Given the description of an element on the screen output the (x, y) to click on. 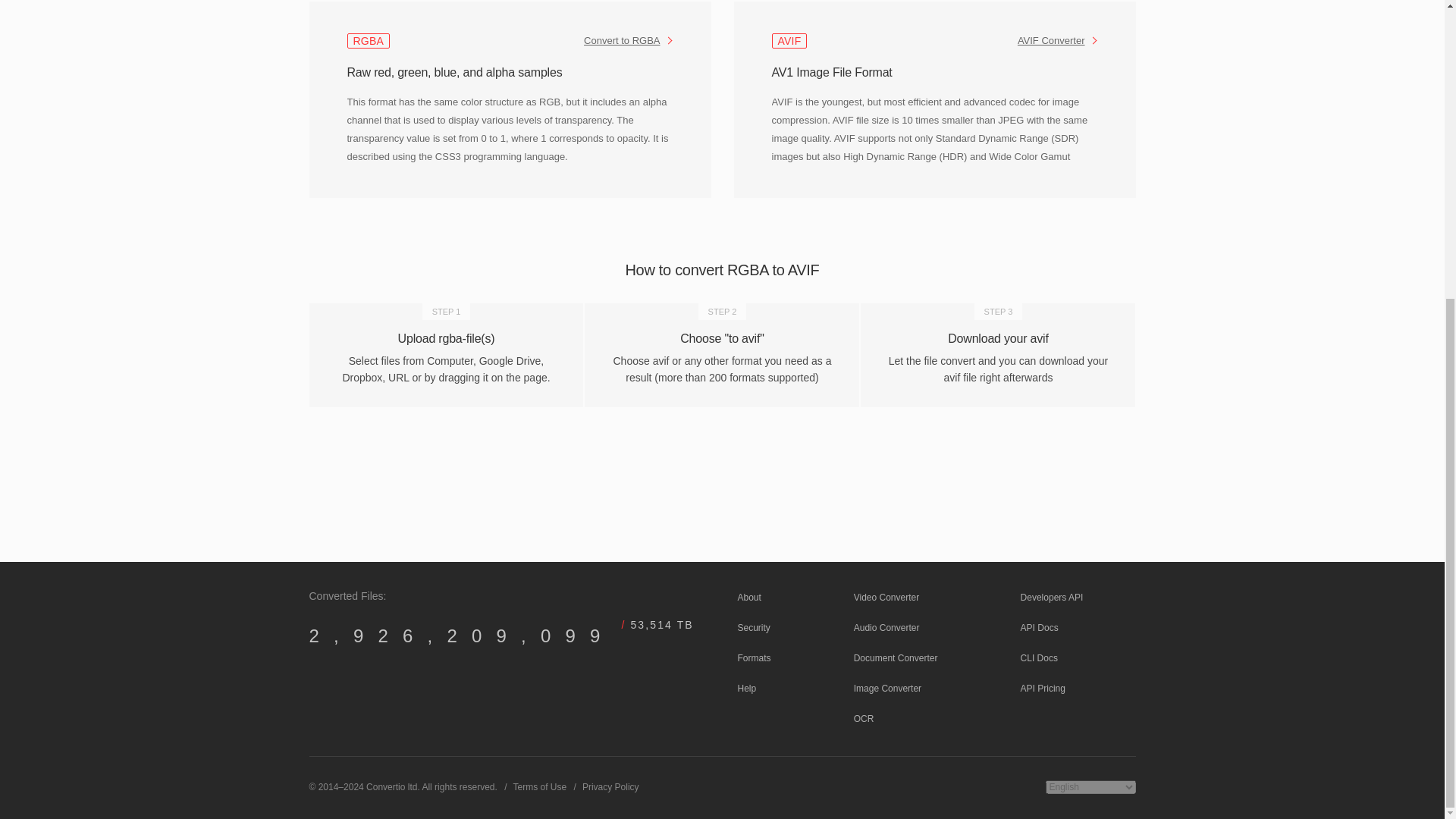
AVIF Converter (1057, 40)
Security (753, 627)
About (748, 597)
Convert to RGBA (627, 40)
Help (745, 688)
Formats (753, 657)
